Given the description of an element on the screen output the (x, y) to click on. 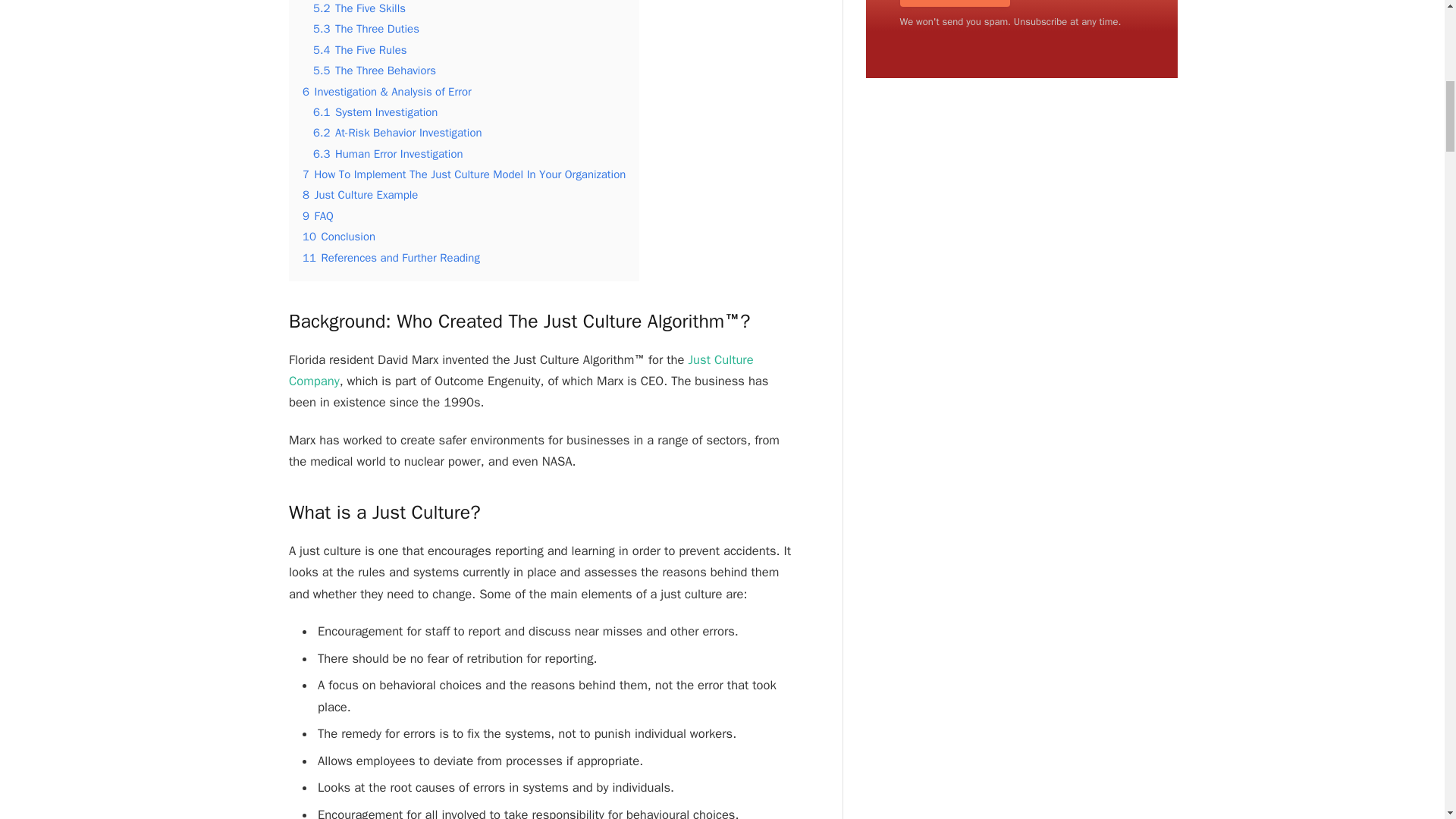
5.3 The Three Duties (366, 29)
8 Just Culture Example (359, 194)
11 References and Further Reading (391, 257)
6.3 Human Error Investigation (388, 153)
6.1 System Investigation (375, 111)
Just Culture Company (521, 370)
9 FAQ (317, 215)
5.4 The Five Rules (359, 49)
5.5 The Three Behaviors (374, 69)
5.2 The Five Skills (359, 8)
